Given the description of an element on the screen output the (x, y) to click on. 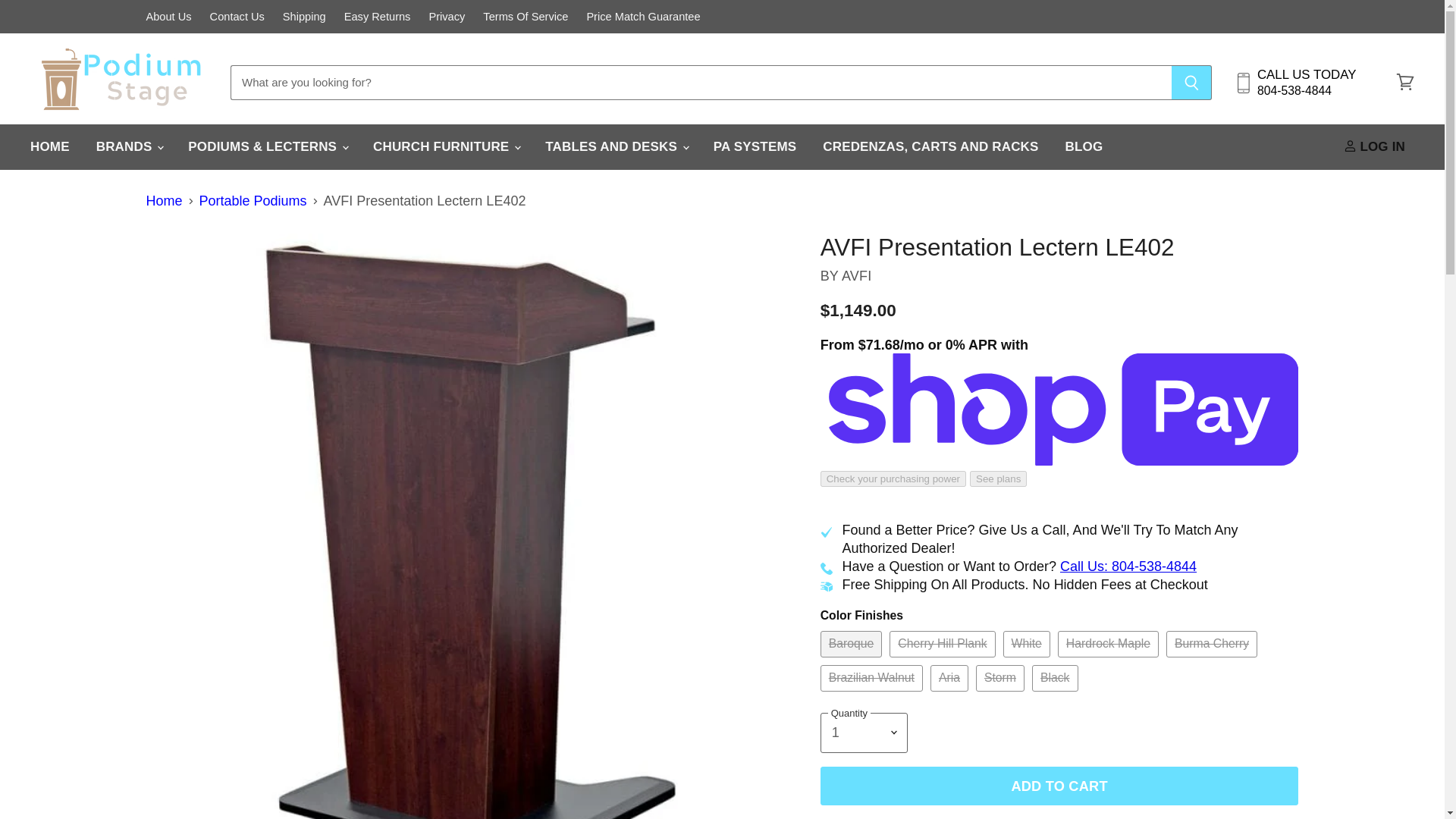
Portable Podiums (253, 201)
HOME (49, 146)
Privacy (446, 16)
Terms Of Service (525, 16)
Price Match Guarantee (643, 16)
Easy Returns (376, 16)
BRANDS (128, 146)
Contact Us (236, 16)
ACCOUNT ICON (1349, 145)
About Us (167, 16)
